Given the description of an element on the screen output the (x, y) to click on. 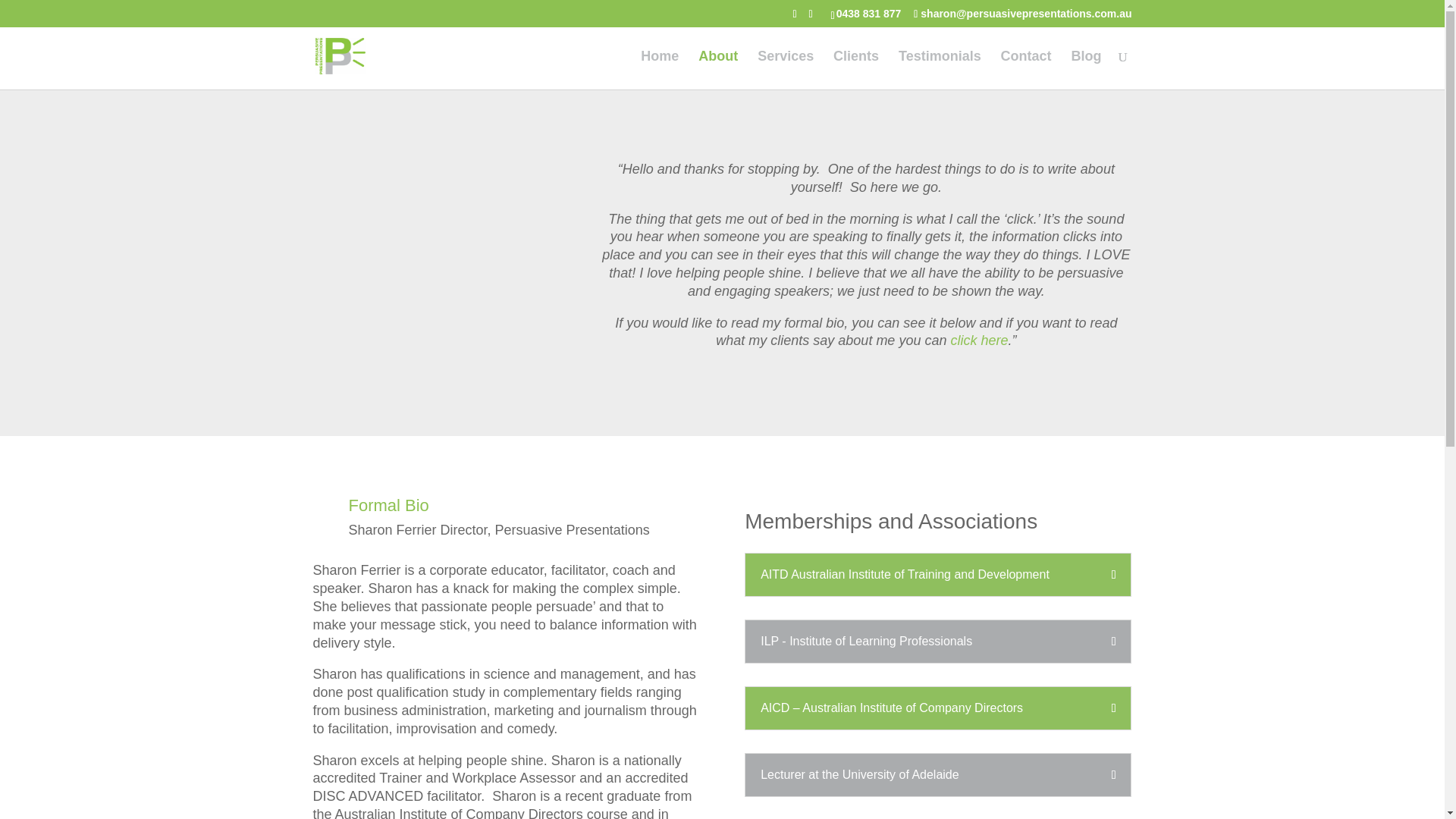
Clients (855, 64)
click here (978, 340)
Contact (1026, 64)
Testimonials (939, 64)
Services (785, 64)
